Given the description of an element on the screen output the (x, y) to click on. 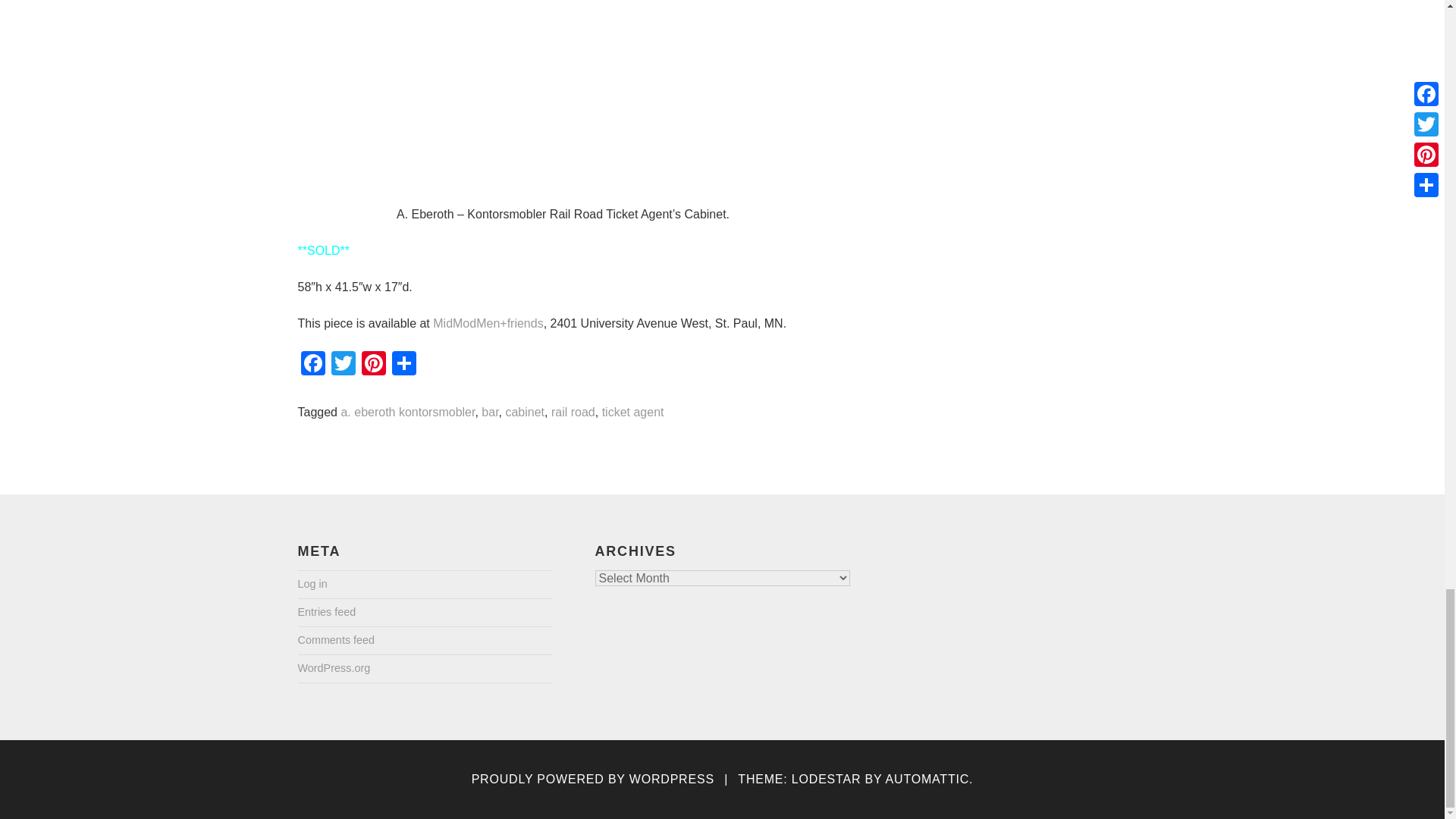
Pinterest (373, 365)
Facebook (312, 365)
AUTOMATTIC (927, 780)
Comments feed (335, 640)
Log in (311, 584)
ticket agent (632, 412)
WordPress.org (333, 668)
Facebook (312, 365)
Entries feed (326, 612)
Pinterest (373, 365)
cabinet (524, 412)
Twitter (342, 365)
bar (489, 412)
Twitter (342, 365)
PROUDLY POWERED BY WORDPRESS (592, 780)
